Given the description of an element on the screen output the (x, y) to click on. 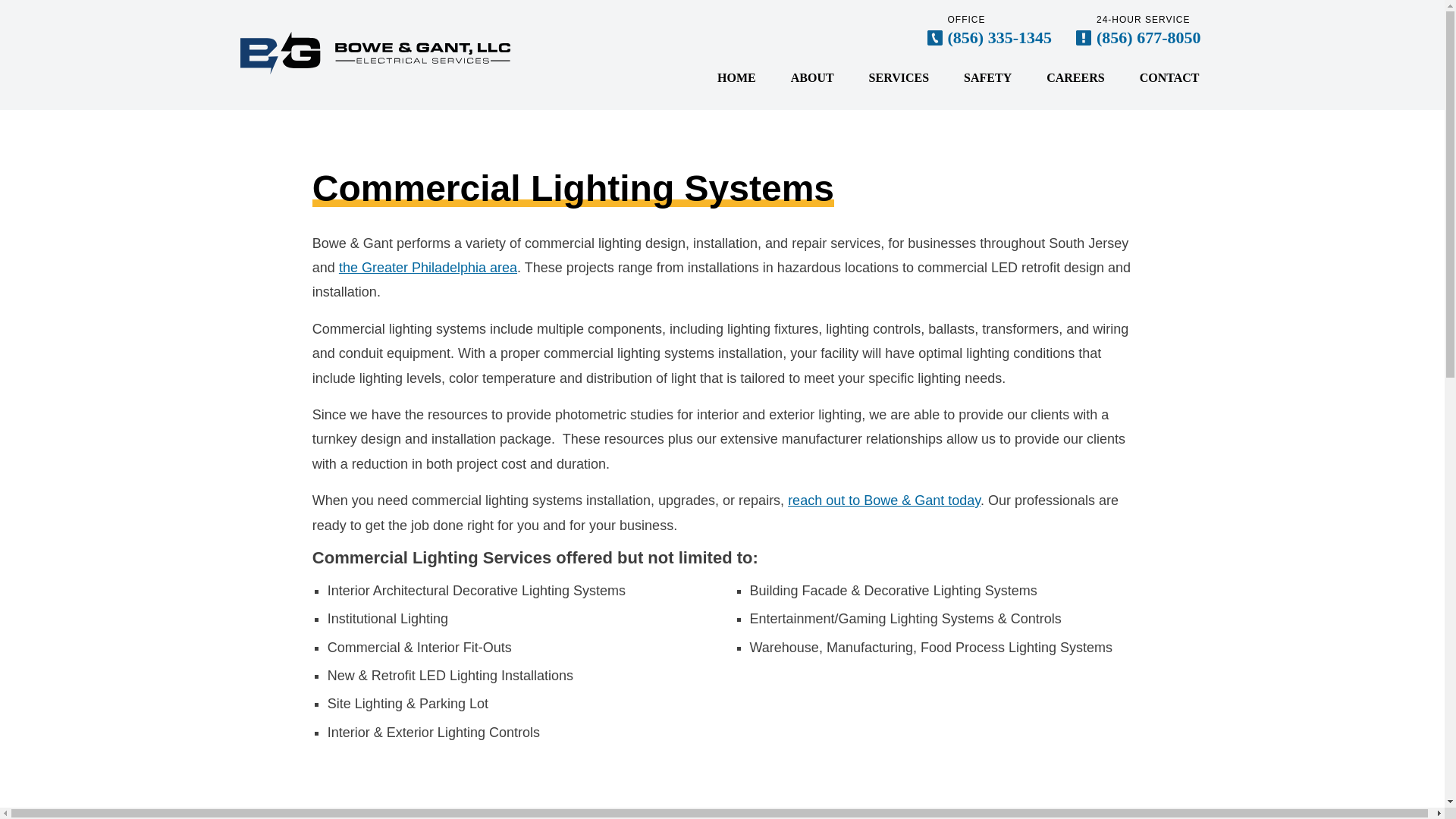
ABOUT (812, 77)
SERVICES (898, 77)
HOME (736, 77)
SAFETY (987, 77)
CONTACT (1169, 77)
CAREERS (1075, 77)
the Greater Philadelphia area (427, 267)
